Given the description of an element on the screen output the (x, y) to click on. 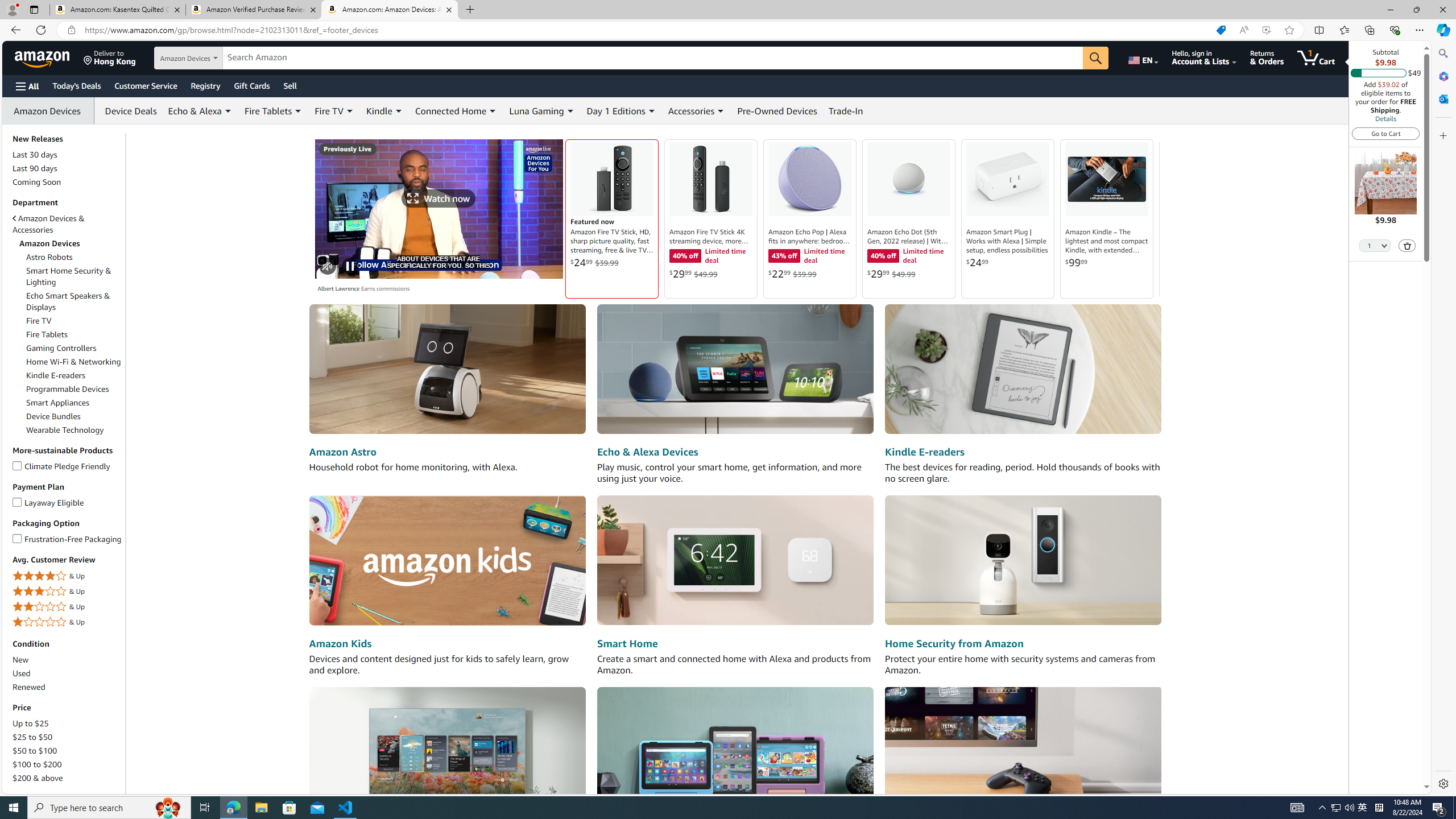
$100 to $200 (67, 763)
Echo & Alexa Devices (734, 369)
$50 to $100 (67, 750)
Fire Tablet devices (734, 751)
Accessories (697, 110)
Trade-In (845, 110)
Smart Home Security & Lighting (74, 276)
Amazon Devices & Accessories (48, 223)
1 item in cart (1315, 57)
Expand Fire TV (349, 111)
Pre-Owned Devices (776, 110)
